Given the description of an element on the screen output the (x, y) to click on. 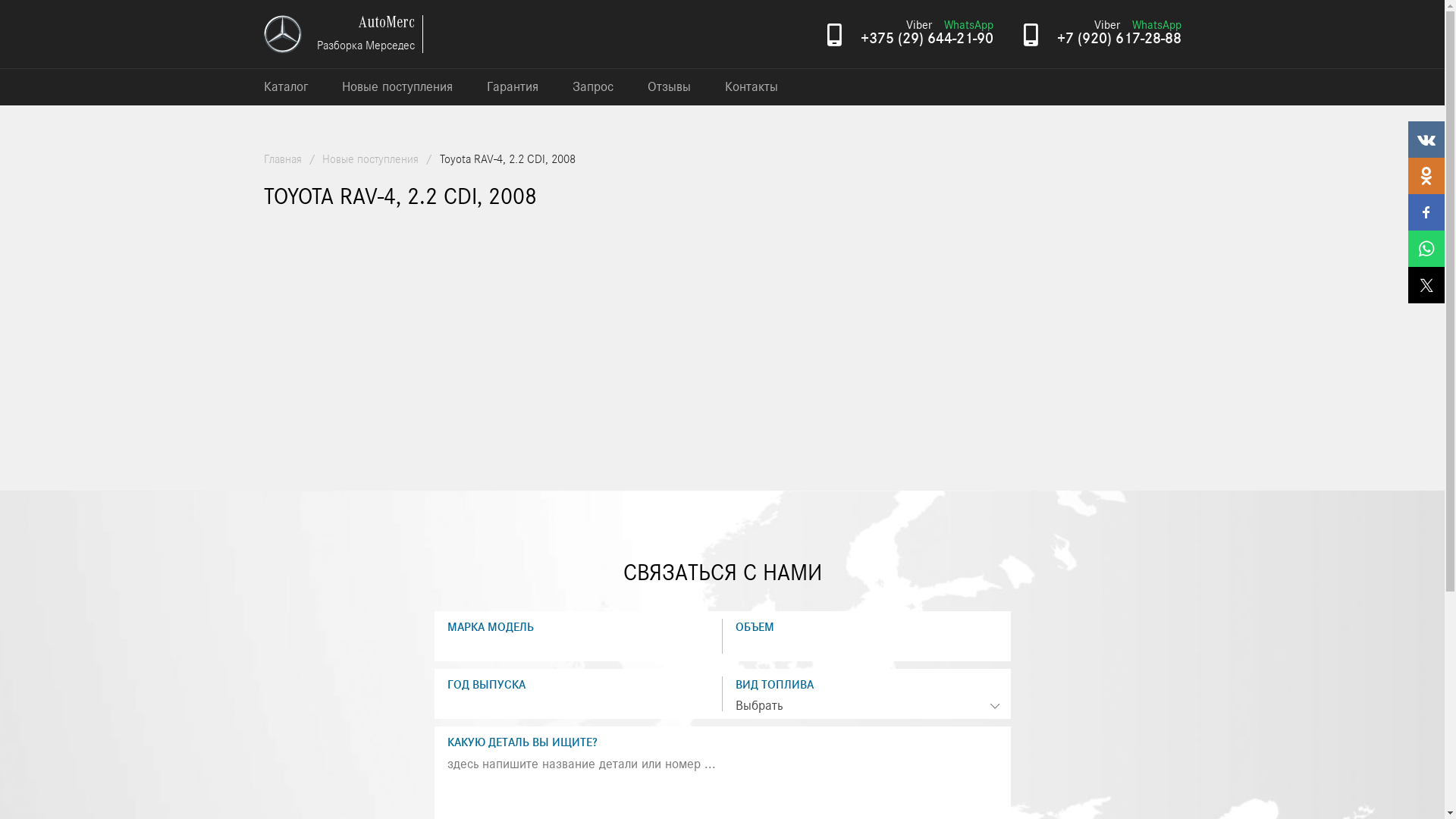
+7 (920) 617-28-88 Element type: text (1119, 38)
+375 (29) 644-21-90 Element type: text (925, 38)
YouTube video player Element type: hover (475, 354)
